Given the description of an element on the screen output the (x, y) to click on. 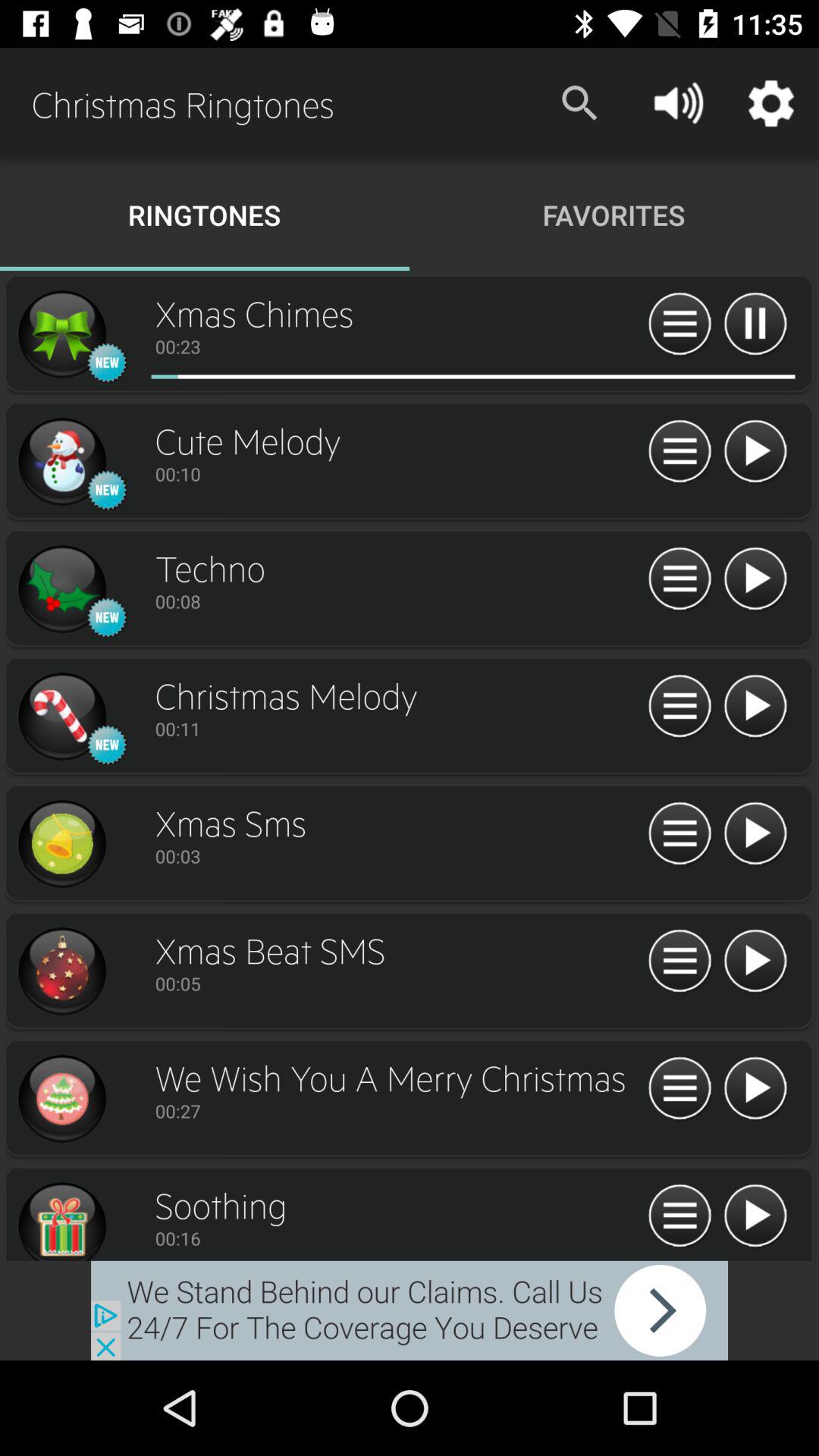
pause (755, 324)
